Given the description of an element on the screen output the (x, y) to click on. 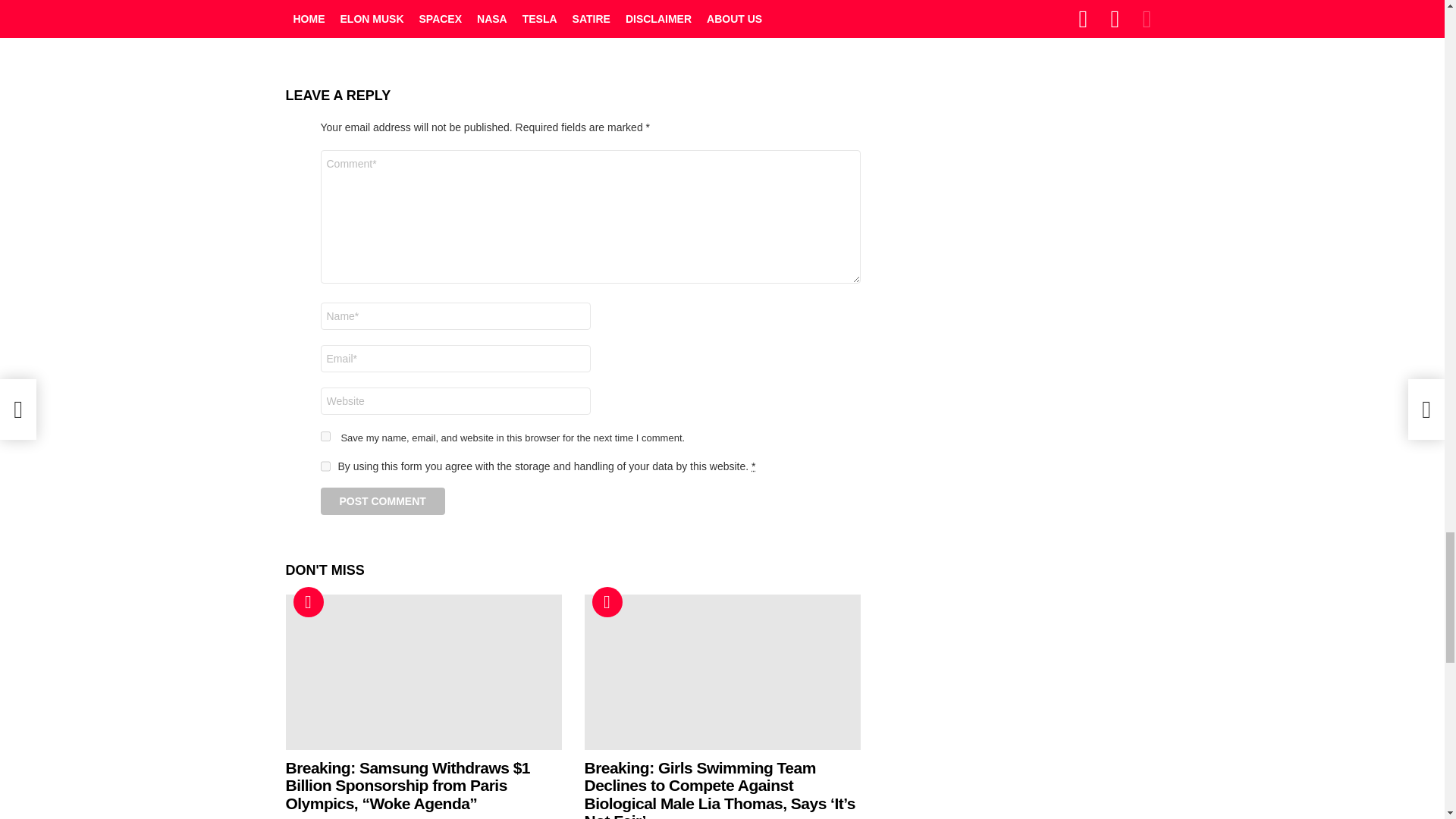
Hot (606, 602)
yes (325, 436)
Post Comment (382, 501)
Hot (307, 602)
